Given the description of an element on the screen output the (x, y) to click on. 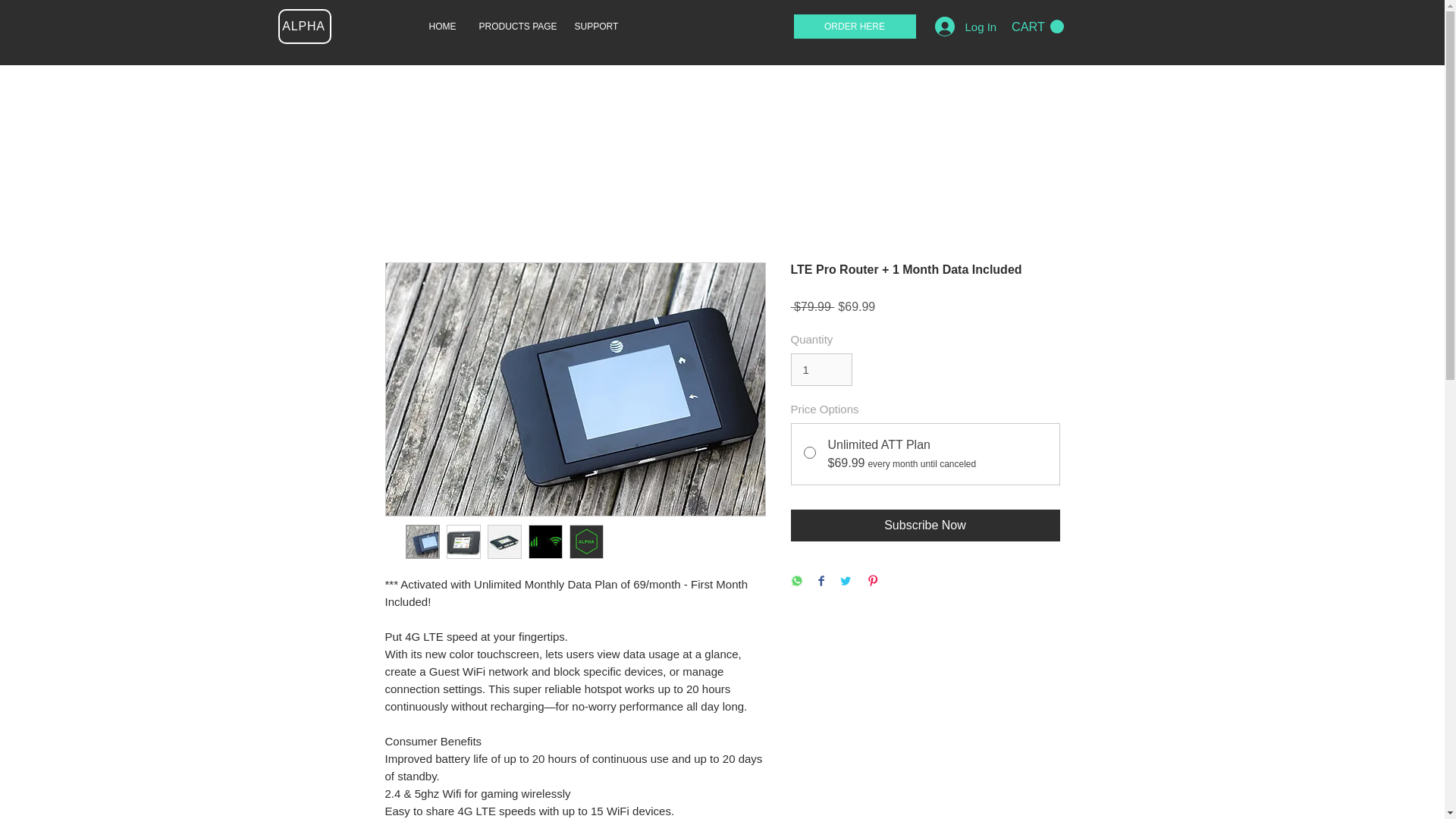
1 (820, 369)
CART (1037, 26)
ORDER HERE (854, 26)
ALPHA (303, 25)
Subscribe Now (924, 525)
SUPPORT (594, 26)
HOME (441, 26)
Log In (957, 26)
PRODUCTS PAGE (514, 26)
